Given the description of an element on the screen output the (x, y) to click on. 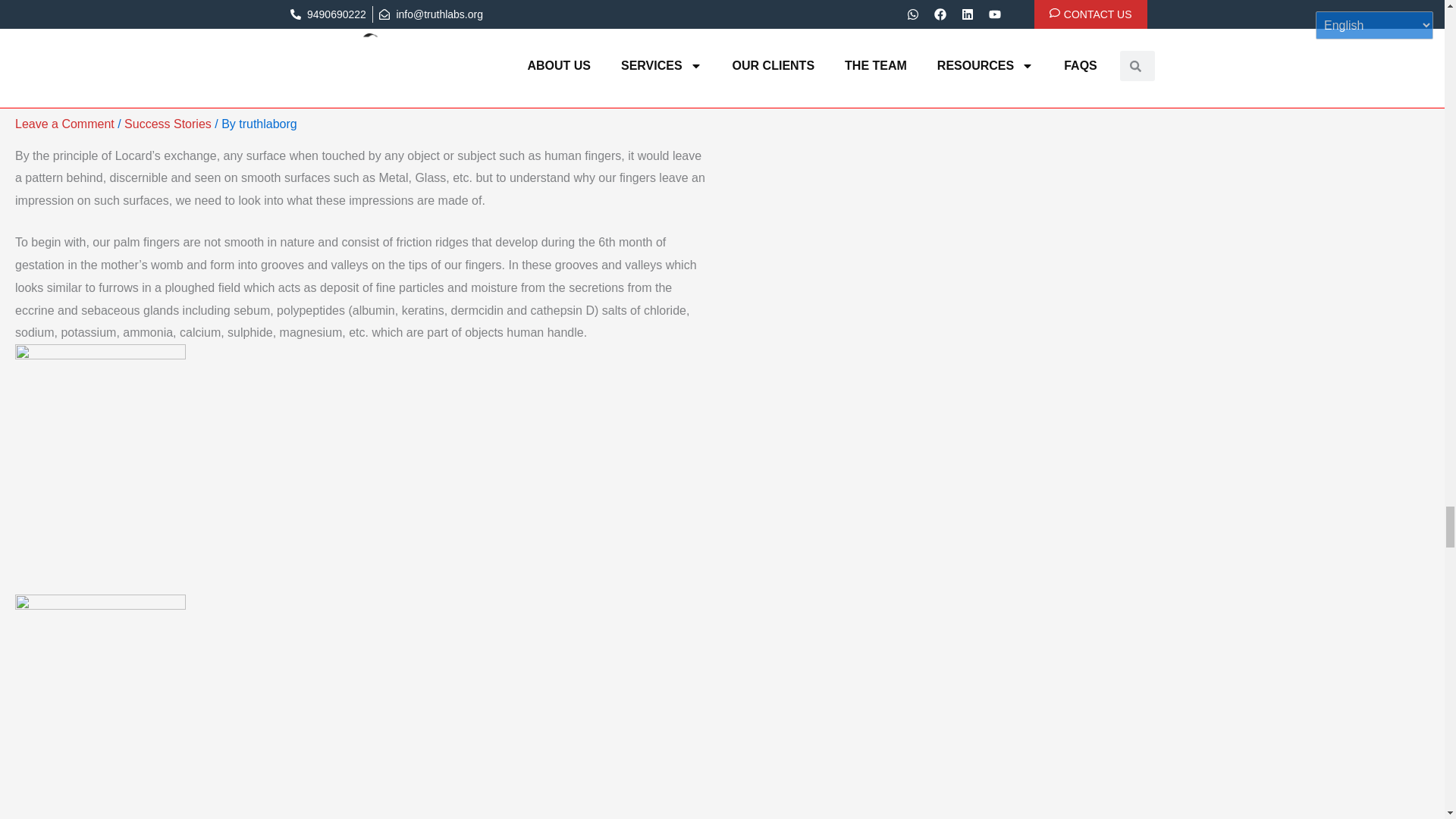
View all posts by truthlaborg (267, 123)
